Given the description of an element on the screen output the (x, y) to click on. 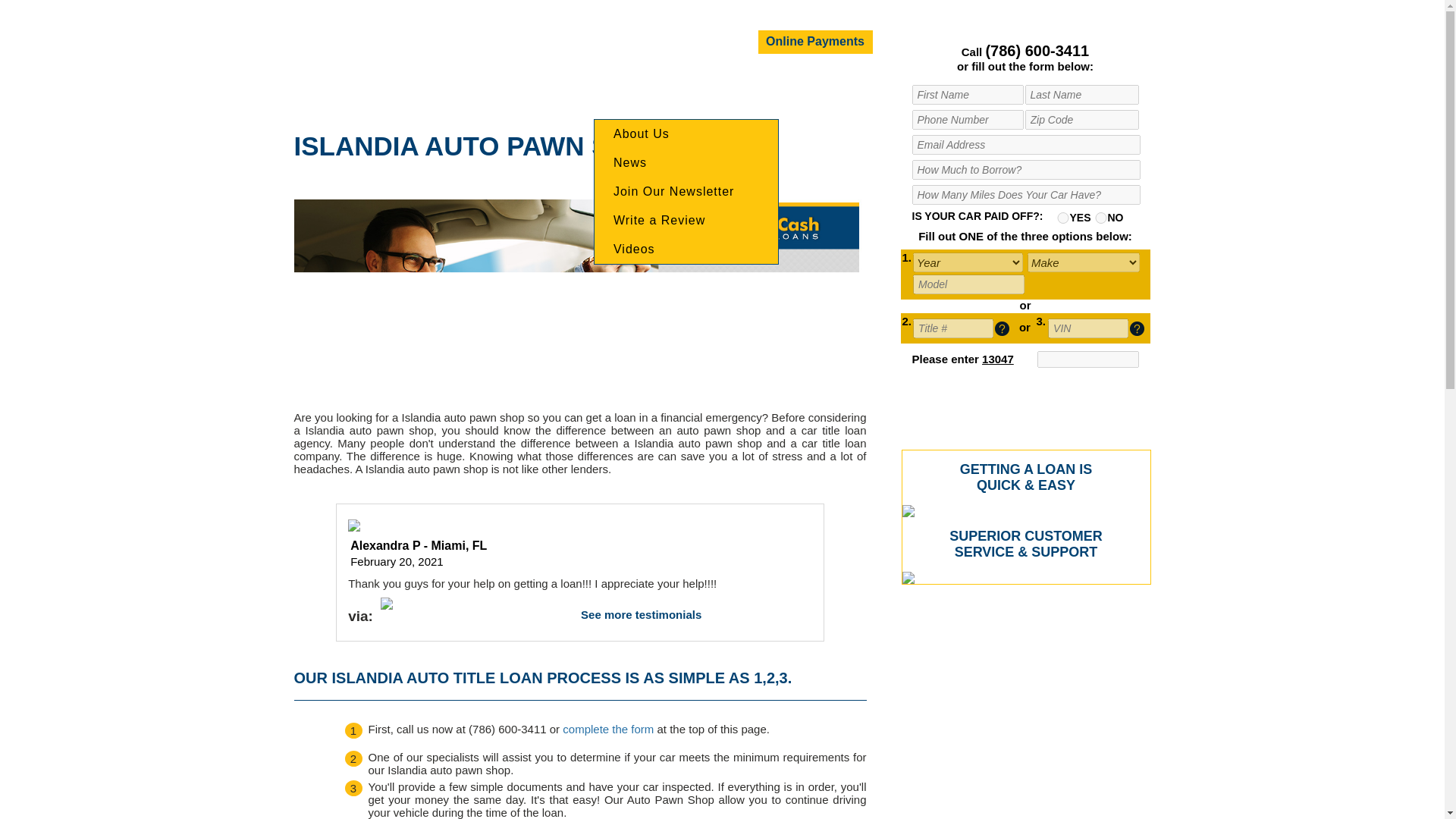
Company (635, 84)
Online Payments (815, 42)
Testimonials (917, 84)
Identification Number Upper Left Corner of the Title (1136, 328)
Locations (719, 84)
Videos (685, 249)
YES (1061, 217)
Miami Auto Title Loans (409, 36)
Write a Review (685, 220)
News (685, 162)
